Given the description of an element on the screen output the (x, y) to click on. 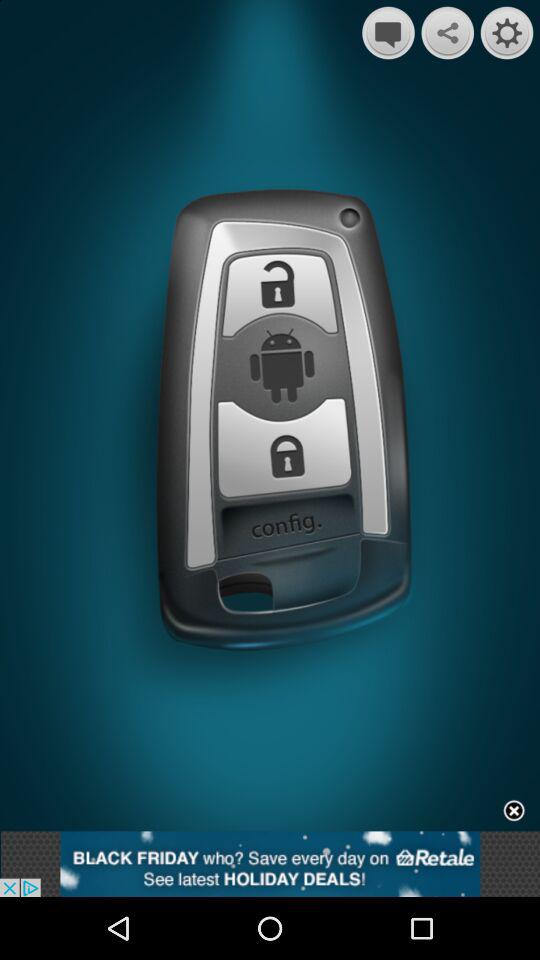
settings option (506, 32)
